Given the description of an element on the screen output the (x, y) to click on. 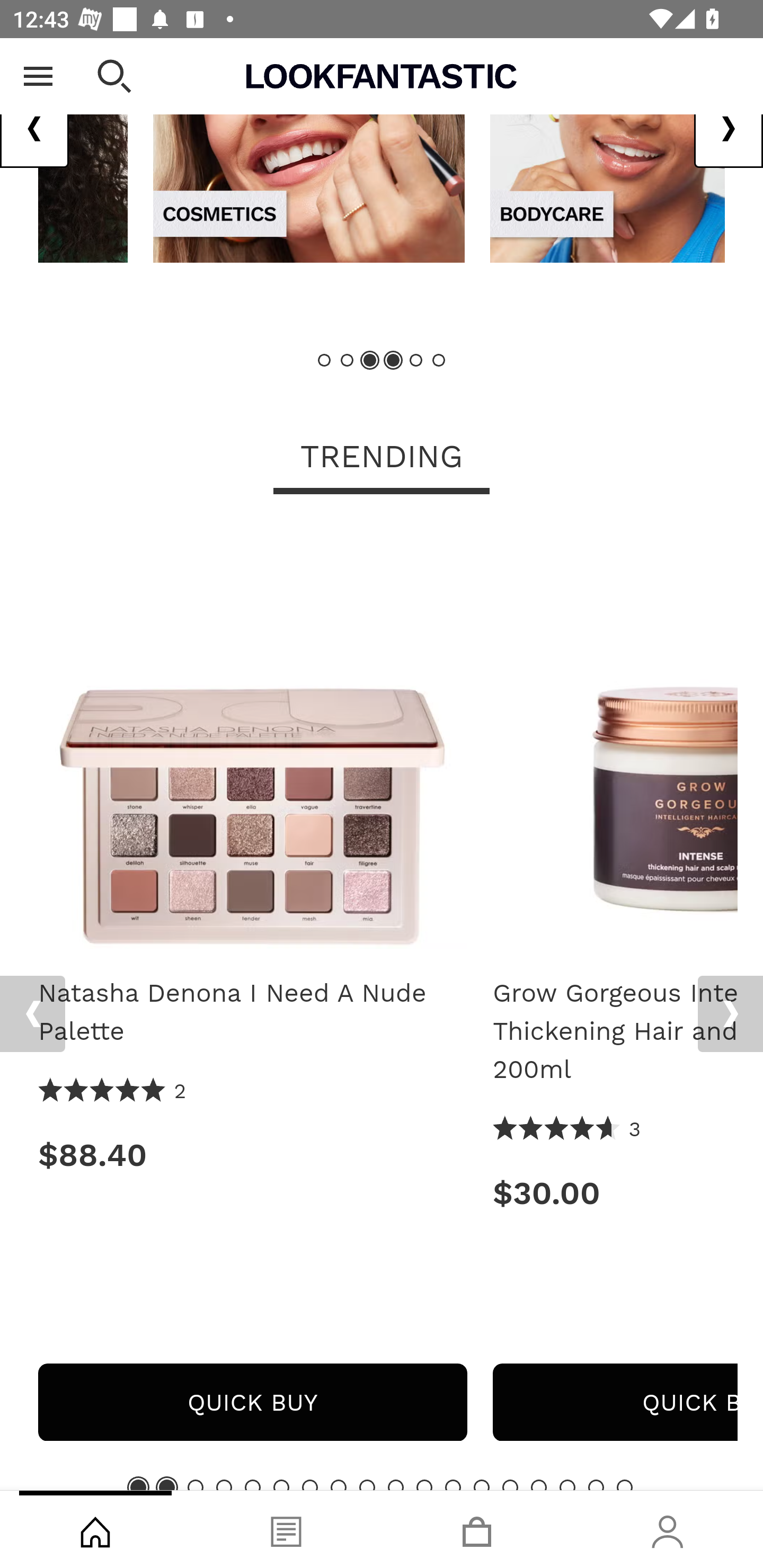
view-all (308, 150)
view-all (606, 150)
Previous (35, 129)
Next (727, 129)
Slide 1 (324, 361)
Slide 2 (347, 361)
Showing Slide 3 (Current Item) (369, 361)
Showing Slide 4 (Current Item) (393, 361)
Slide 5 (415, 361)
Slide 6 (437, 361)
TRENDING (381, 459)
Natasha Denona I Need A Nude Palette (252, 740)
Natasha Denona I Need A Nude Palette (252, 1012)
Previous (32, 1014)
Next (730, 1014)
5.0 Stars 2 Reviews (112, 1091)
4.67 Stars 3 Reviews (567, 1130)
Price: $88.40 (252, 1156)
Price: $30.00 (614, 1193)
QUICK BUY NATASHA DENONA I NEED A NUDE PALETTE (252, 1403)
Showing Slide 1 (Current Item) (138, 1485)
Showing Slide 2 (Current Item) (166, 1485)
Slide 3 (195, 1485)
Slide 4 (223, 1485)
Slide 5 (252, 1485)
Slide 6 (281, 1485)
Slide 7 (310, 1485)
Slide 8 (338, 1485)
Slide 9 (367, 1485)
Slide 10 (395, 1485)
Slide 11 (424, 1485)
Slide 12 (452, 1485)
Slide 13 (481, 1485)
Slide 14 (510, 1485)
Slide 15 (539, 1485)
Slide 16 (567, 1485)
Slide 17 (596, 1485)
Slide 18 (624, 1485)
Shop, tab, 1 of 4 (95, 1529)
Blog, tab, 2 of 4 (285, 1529)
Basket, tab, 3 of 4 (476, 1529)
Account, tab, 4 of 4 (667, 1529)
